Given the description of an element on the screen output the (x, y) to click on. 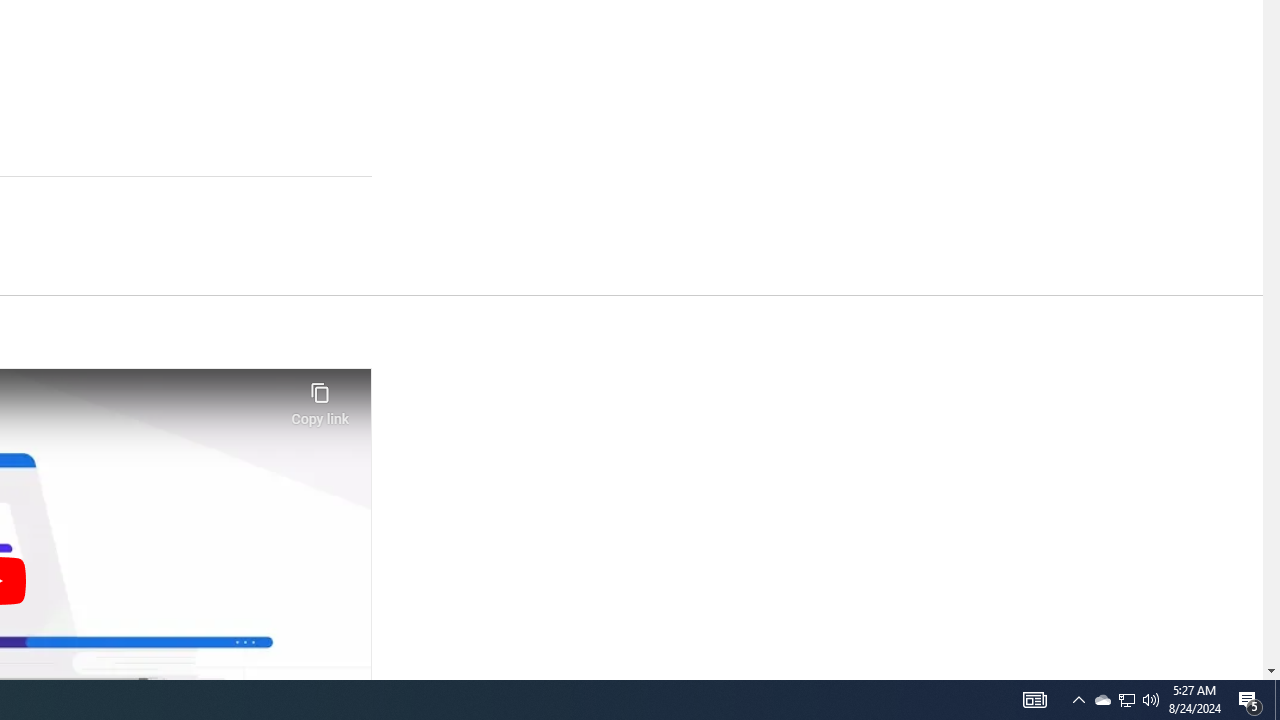
Copy link (319, 398)
